Given the description of an element on the screen output the (x, y) to click on. 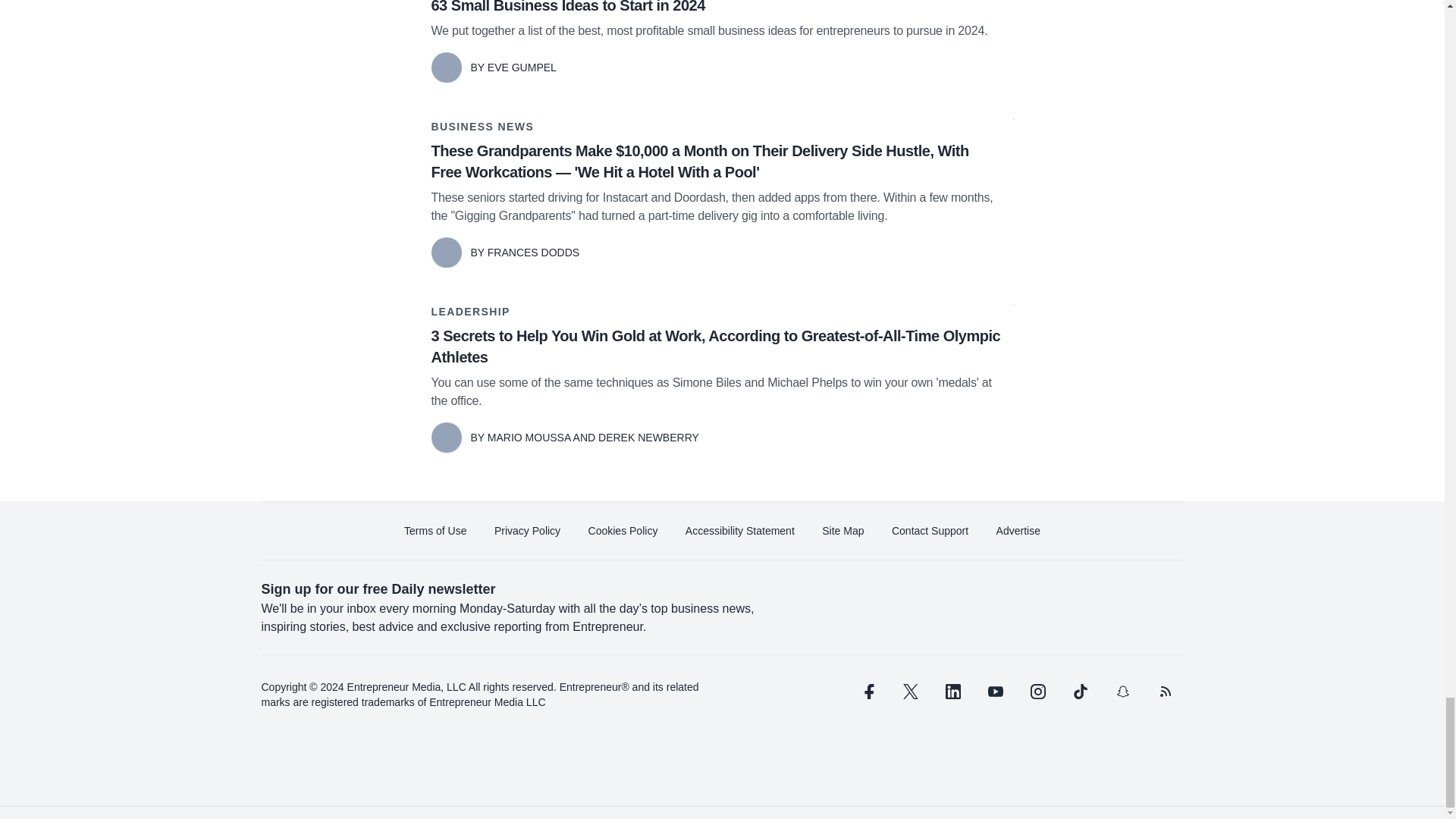
linkedin (952, 691)
snapchat (1121, 691)
tiktok (1079, 691)
instagram (1037, 691)
youtube (994, 691)
facebook (866, 691)
twitter (909, 691)
